Given the description of an element on the screen output the (x, y) to click on. 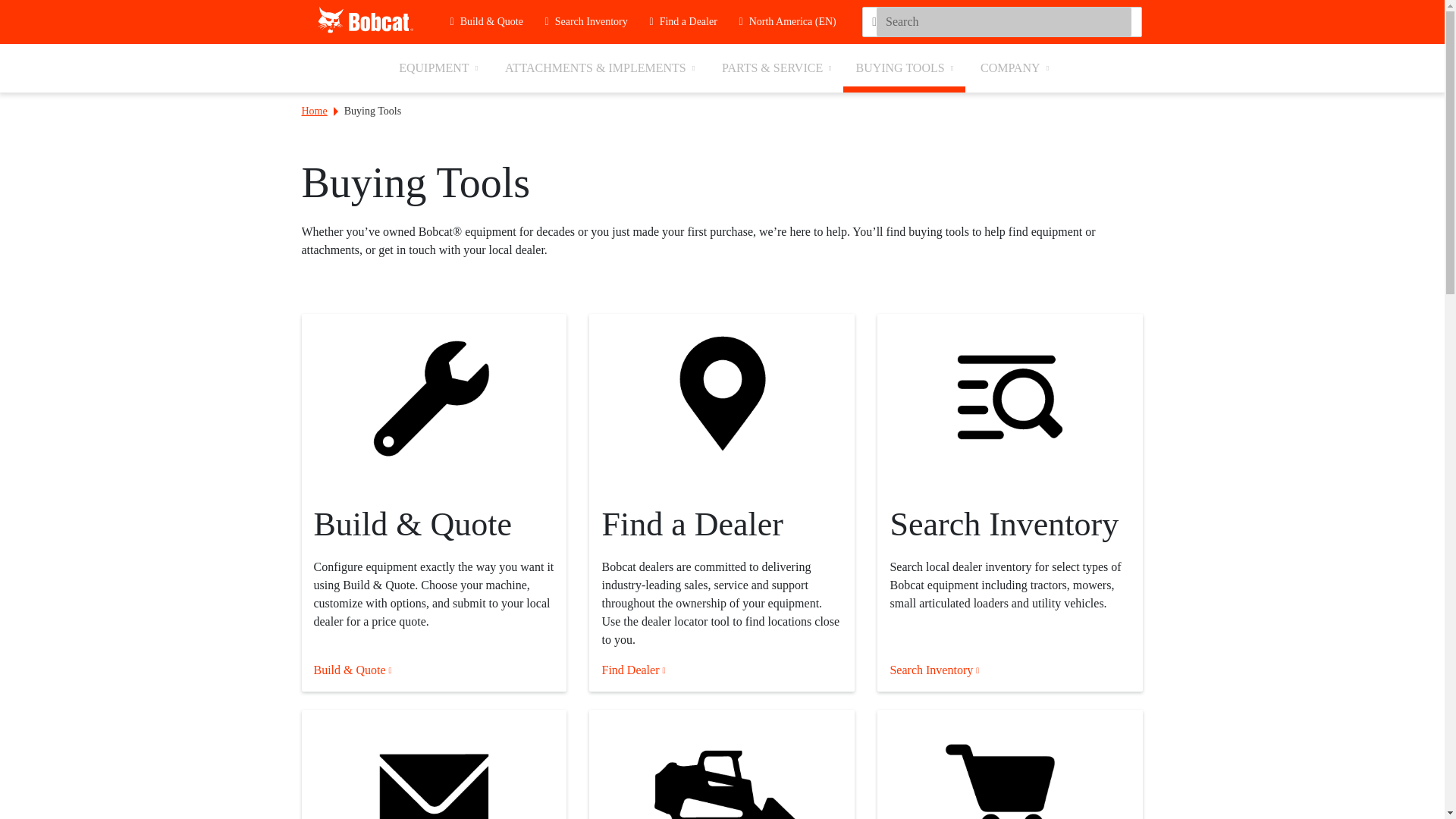
Request A Demo Icon (721, 764)
Find A Dealer Icon (721, 401)
Contact A Dealer Icon (434, 764)
Official Bobcat Company Logo (365, 19)
Find a Dealer (688, 22)
New Equipment Inventory Search (1009, 401)
Search Inventory (590, 22)
